Given the description of an element on the screen output the (x, y) to click on. 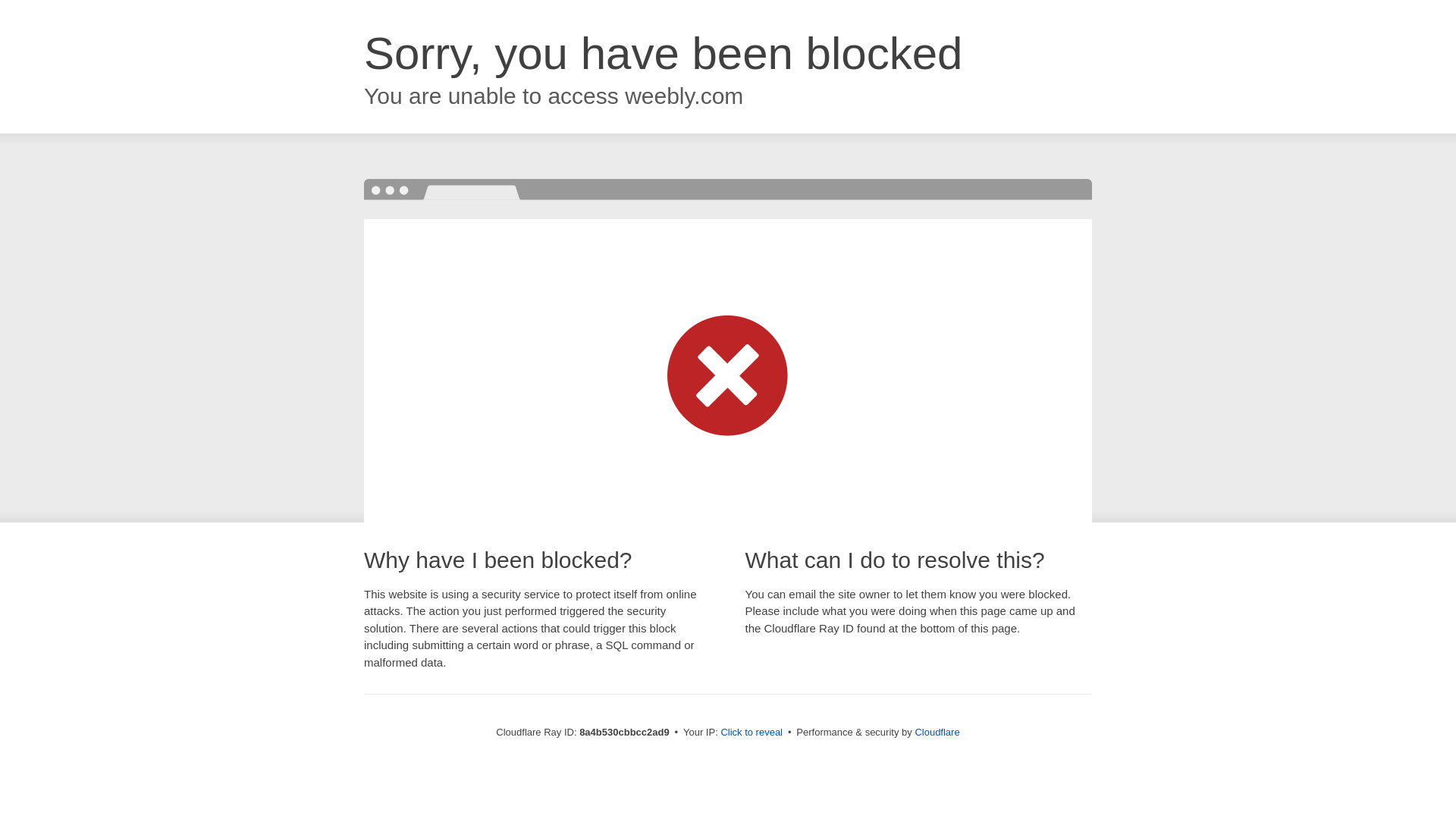
Cloudflare (936, 731)
Click to reveal (751, 732)
